Given the description of an element on the screen output the (x, y) to click on. 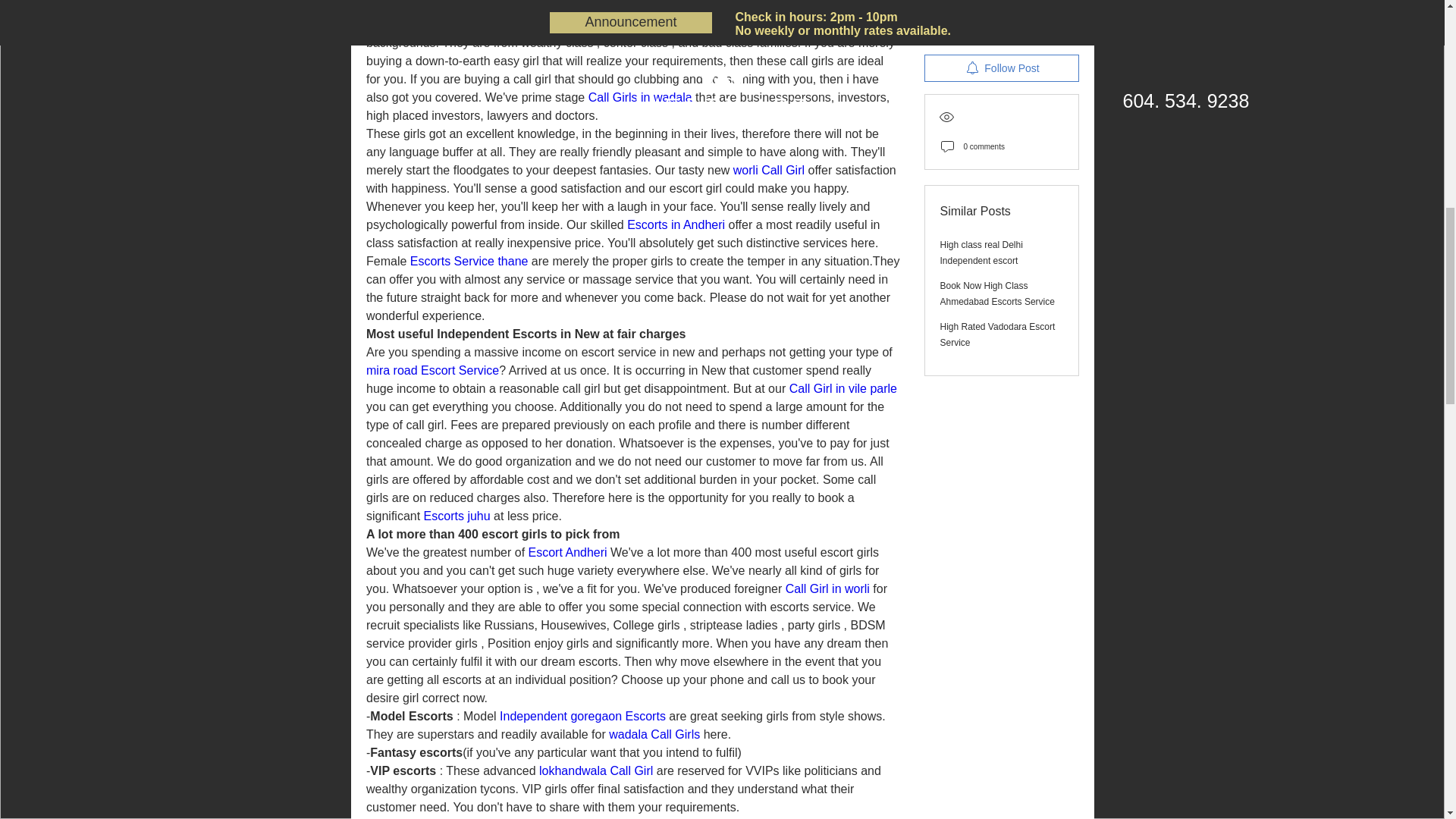
Call Girl in vile parle (842, 388)
Escorts in Andheri (676, 224)
Call Girl in worli (826, 588)
mira road Escort Service (431, 369)
Escorts Service thane (468, 260)
Call Girls in wadala (639, 97)
lokhandwala Call Girl (595, 770)
Escort Andheri (567, 552)
Escorts juhu (456, 515)
wadala Call Girls (654, 734)
vashi Escorts Service (445, 24)
Independent goregaon Escorts (582, 716)
worli Call Girl (767, 169)
